Given the description of an element on the screen output the (x, y) to click on. 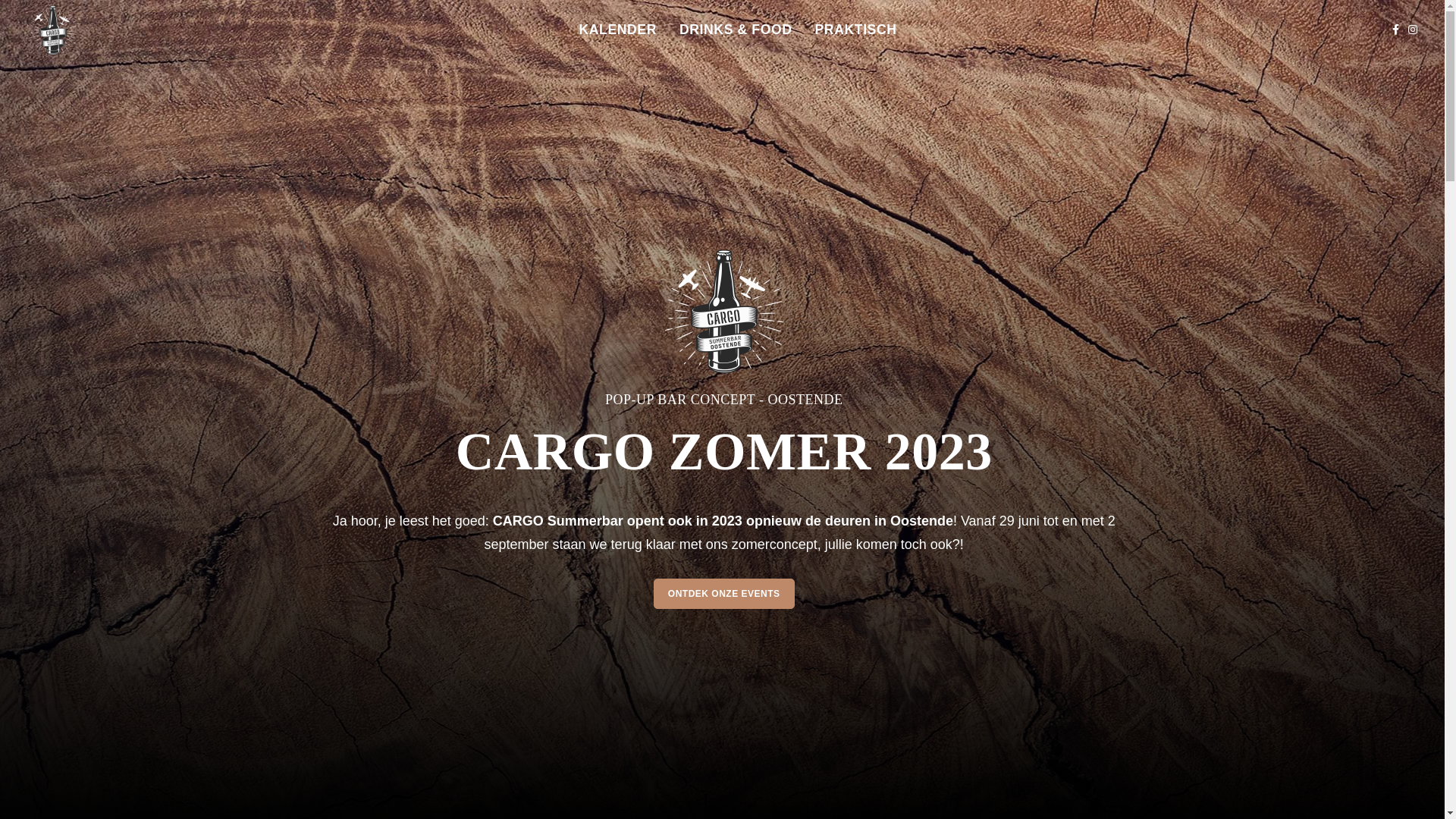
ONTDEK ONZE EVENTS Element type: text (723, 593)
KALENDER Element type: text (617, 29)
DRINKS & FOOD Element type: text (735, 29)
PRAKTISCH Element type: text (856, 29)
